Given the description of an element on the screen output the (x, y) to click on. 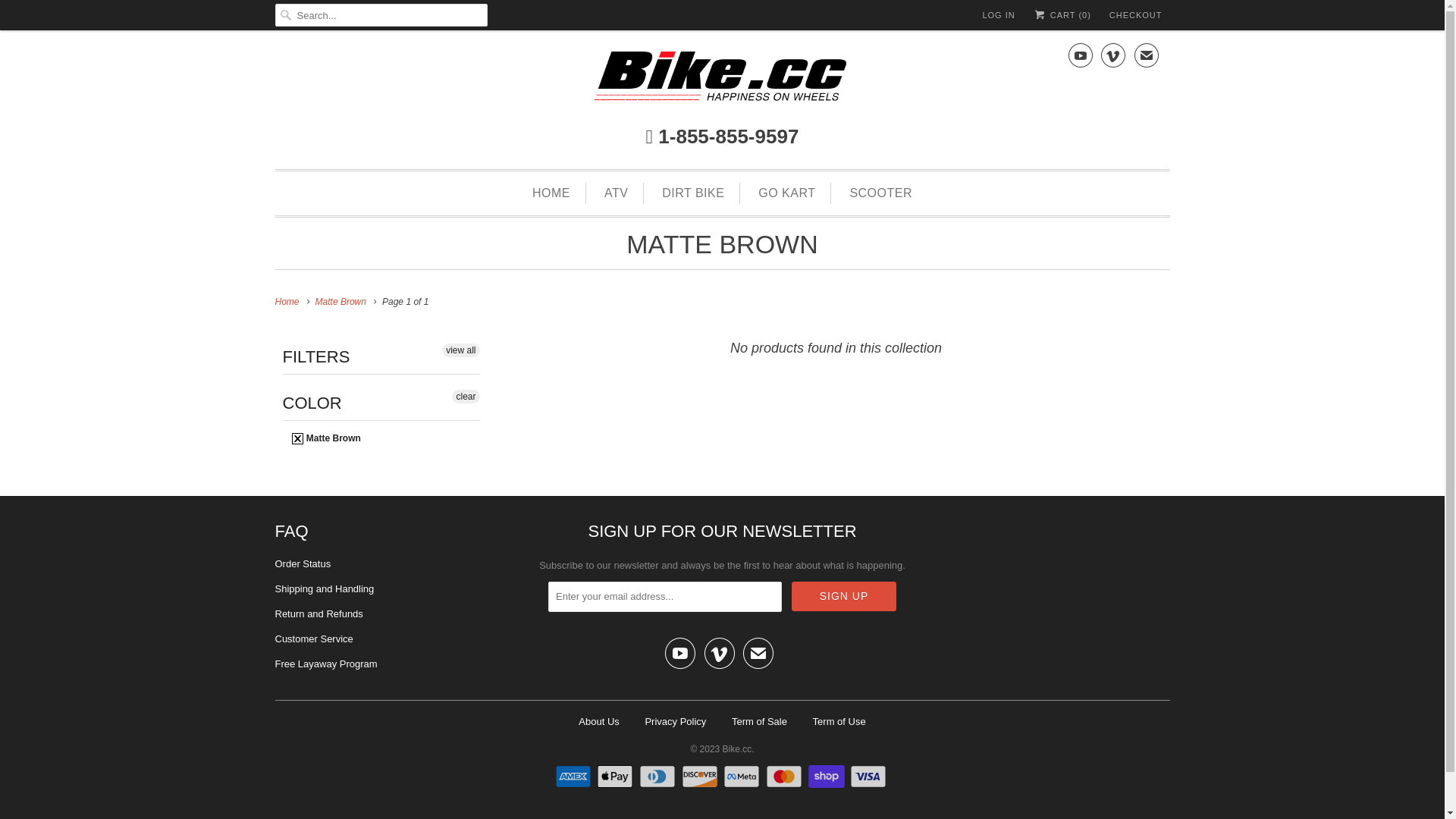
ATV Element type: text (615, 192)
Term of Use Element type: text (839, 721)
Bike.cc Element type: hover (721, 80)
Matte Brown Element type: text (325, 439)
view all Element type: text (460, 350)
Sign Up Element type: text (843, 596)
LOG IN Element type: text (998, 14)
Customer Service Element type: text (313, 638)
GO KART Element type: text (786, 192)
Order Status Element type: text (302, 563)
clear Element type: text (465, 396)
MATTE BROWN Element type: text (721, 243)
SCOOTER Element type: text (880, 192)
Matte Brown Element type: text (340, 301)
About Us Element type: text (598, 721)
Privacy Policy Element type: text (675, 721)
Free Layaway Program Element type: text (325, 663)
CART (0) Element type: text (1062, 14)
DIRT BIKE Element type: text (693, 192)
CHECKOUT Element type: text (1135, 14)
Home Element type: text (286, 301)
Term of Sale Element type: text (759, 721)
1-855-855-9597 Element type: text (721, 136)
Bike.cc Element type: text (737, 744)
Return and Refunds Element type: text (318, 613)
HOME Element type: text (551, 192)
Shipping and Handling Element type: text (323, 588)
